Given the description of an element on the screen output the (x, y) to click on. 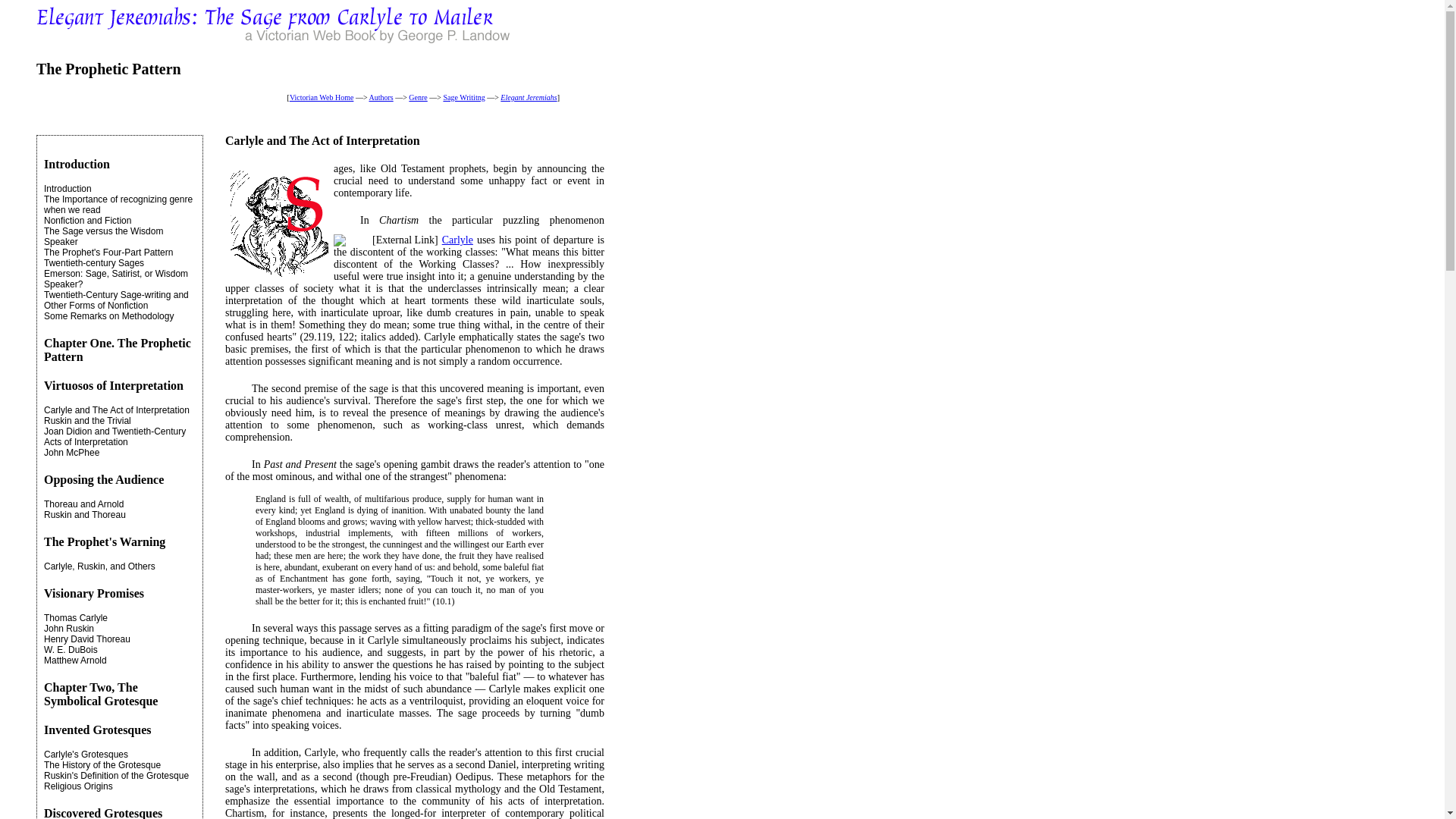
Thoreau and Arnold (83, 503)
Emerson: Sage, Satirist, or Wisdom Speaker? (115, 278)
Carlyle's Grotesques (85, 754)
Thomas Carlyle (75, 617)
Matthew Arnold (74, 660)
John McPhee (71, 452)
The Importance of recognizing genre when we read (117, 204)
Twentieth-century Sages (93, 262)
Carlyle and The Act of Interpretation (116, 409)
Religious Origins (78, 786)
